Given the description of an element on the screen output the (x, y) to click on. 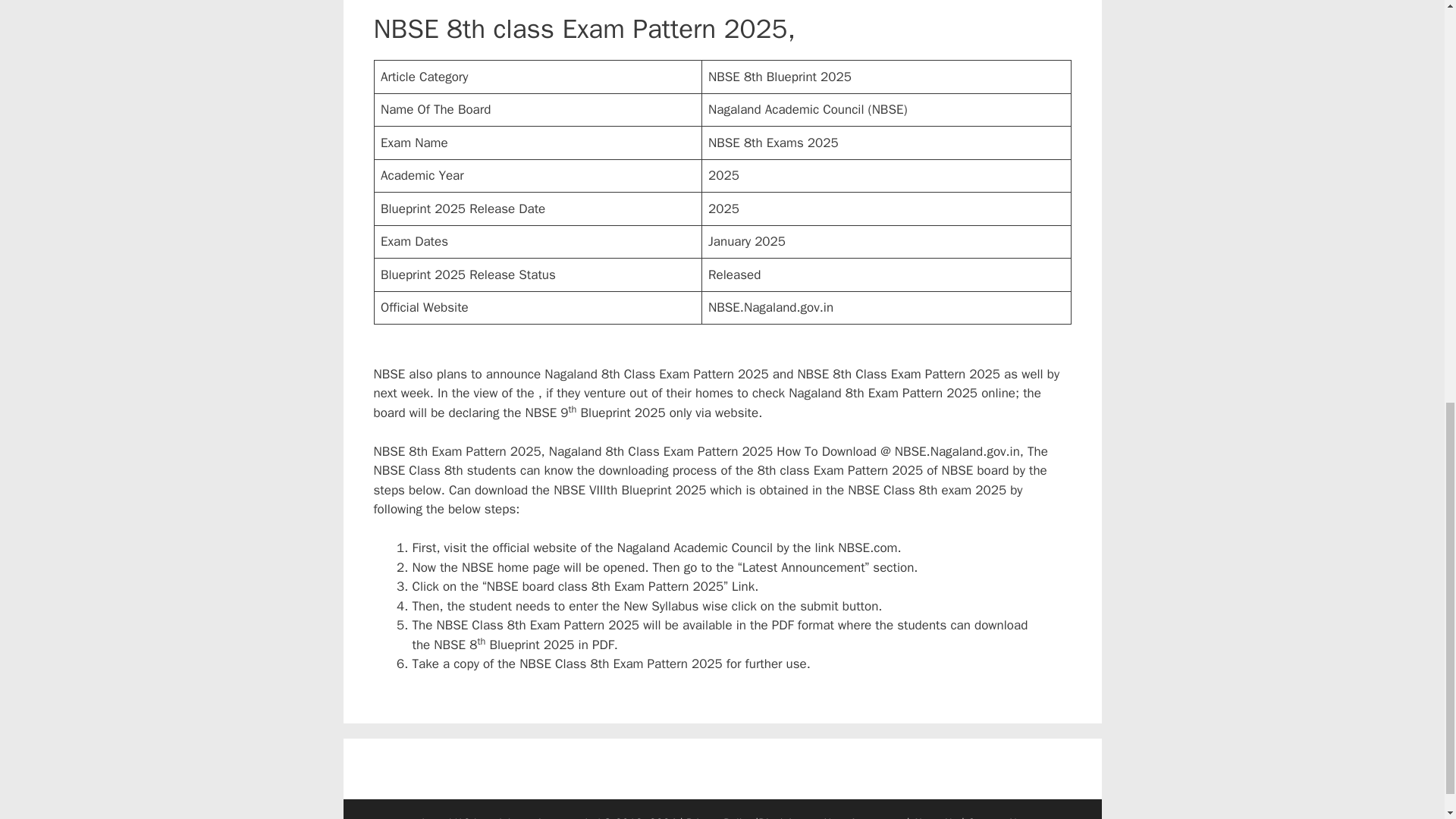
About Us (935, 817)
Contact Us (995, 817)
Privacy Policy (718, 817)
